Given the description of an element on the screen output the (x, y) to click on. 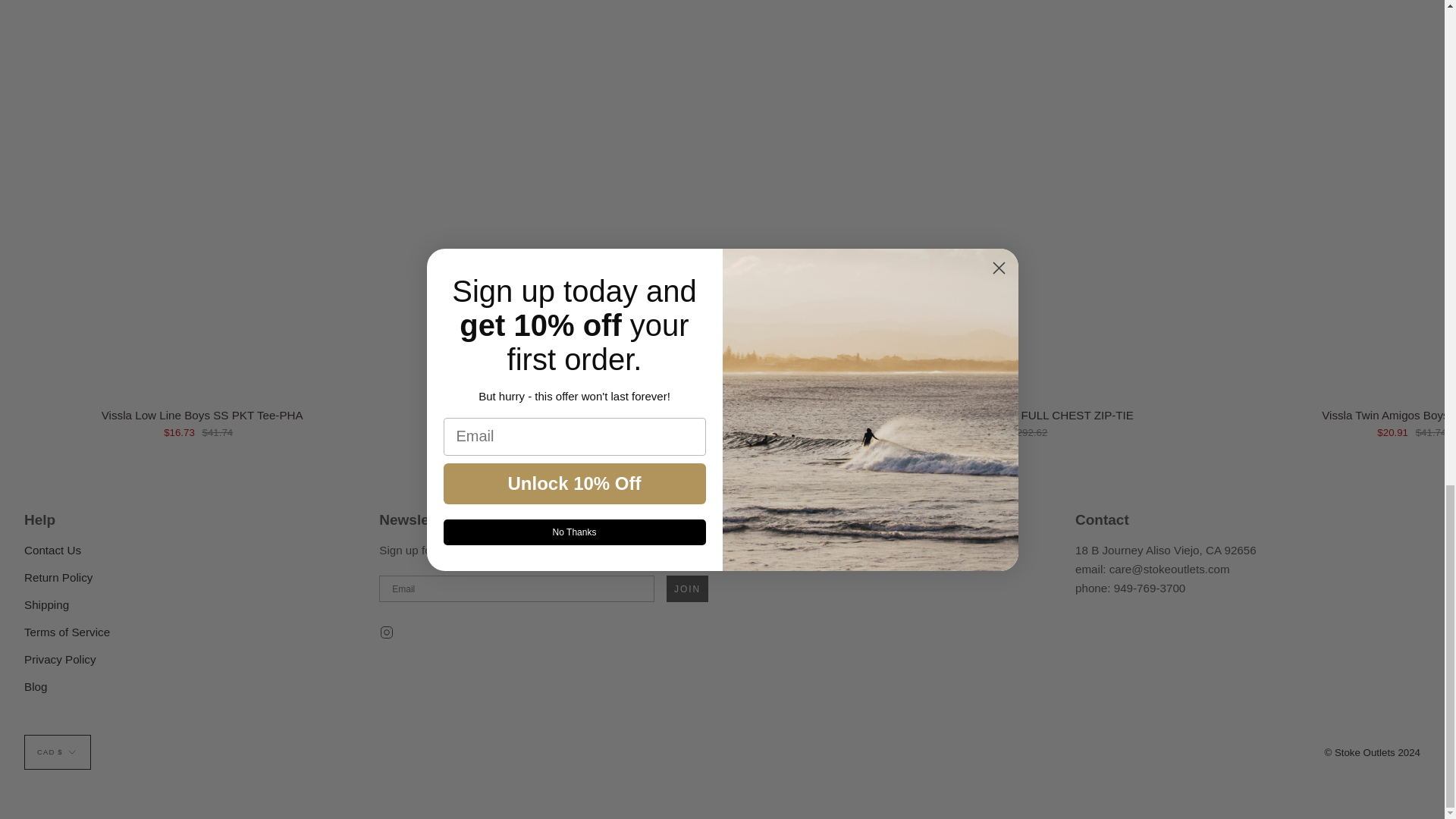
Stoke Outlets on Instagram (386, 631)
